Given the description of an element on the screen output the (x, y) to click on. 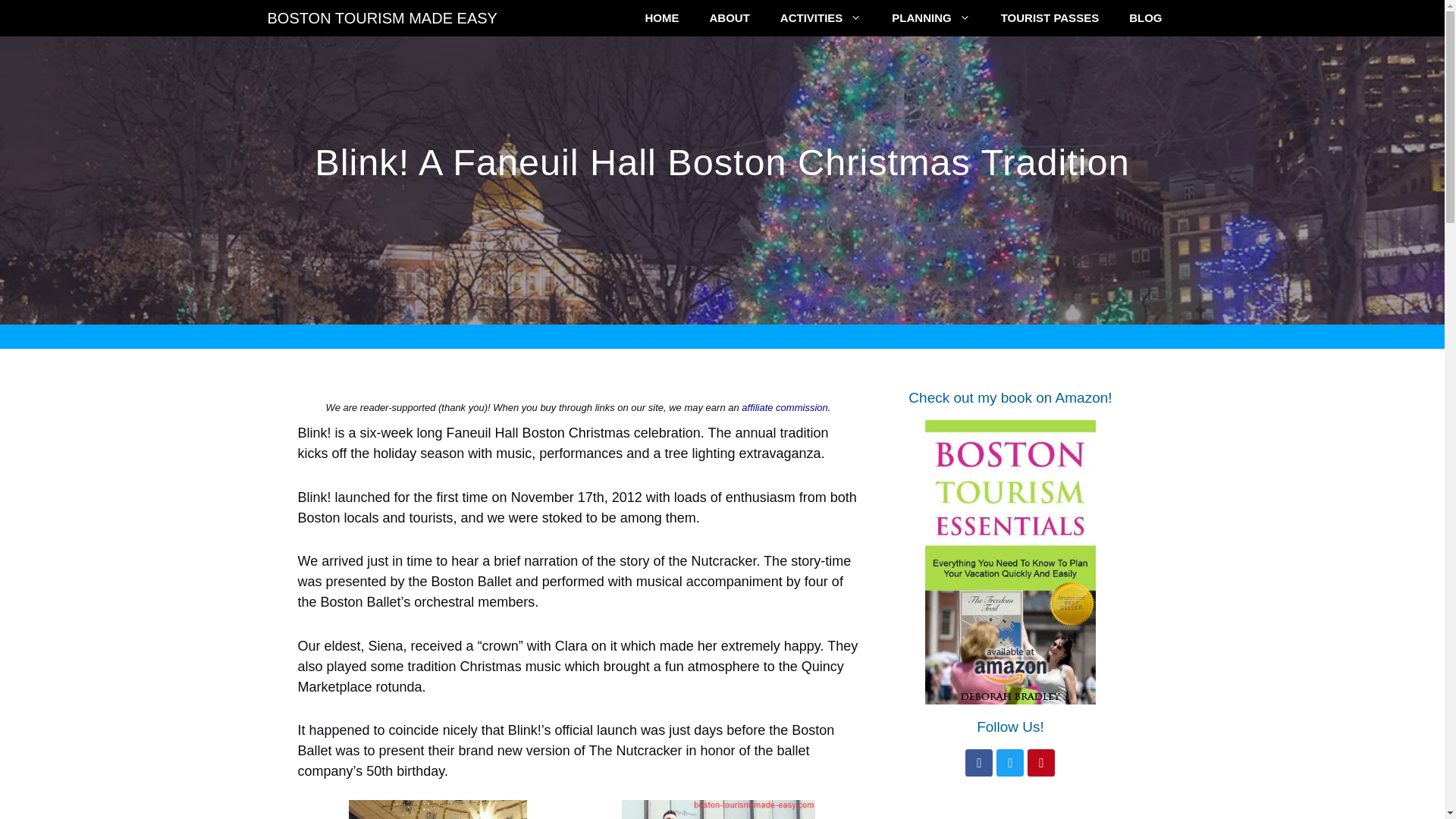
TOURIST PASSES (1049, 18)
HOME (661, 18)
Check out my book on Amazon! (1010, 397)
affiliate commission (784, 407)
PLANNING (930, 18)
ACTIVITIES (821, 18)
BOSTON TOURISM MADE EASY (381, 18)
ABOUT (729, 18)
BLOG (1144, 18)
